Given the description of an element on the screen output the (x, y) to click on. 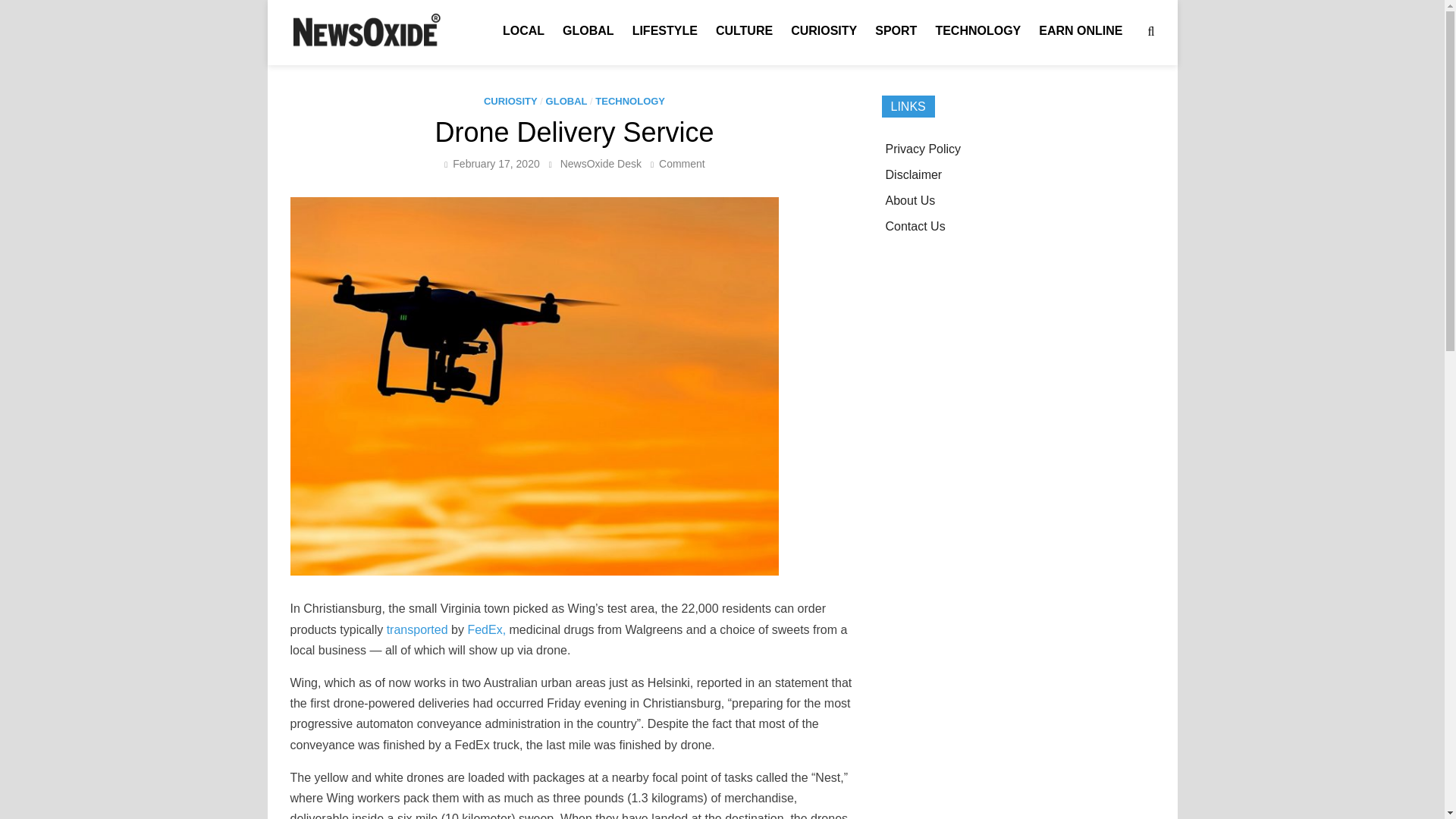
CURIOSITY (823, 30)
LIFESTYLE (664, 30)
transported (417, 629)
EARN ONLINE (681, 163)
TECHNOLOGY (1080, 30)
Disclaimer (977, 30)
LOCAL (913, 174)
NewsOxide Desk (523, 30)
CULTURE (601, 163)
